Given the description of an element on the screen output the (x, y) to click on. 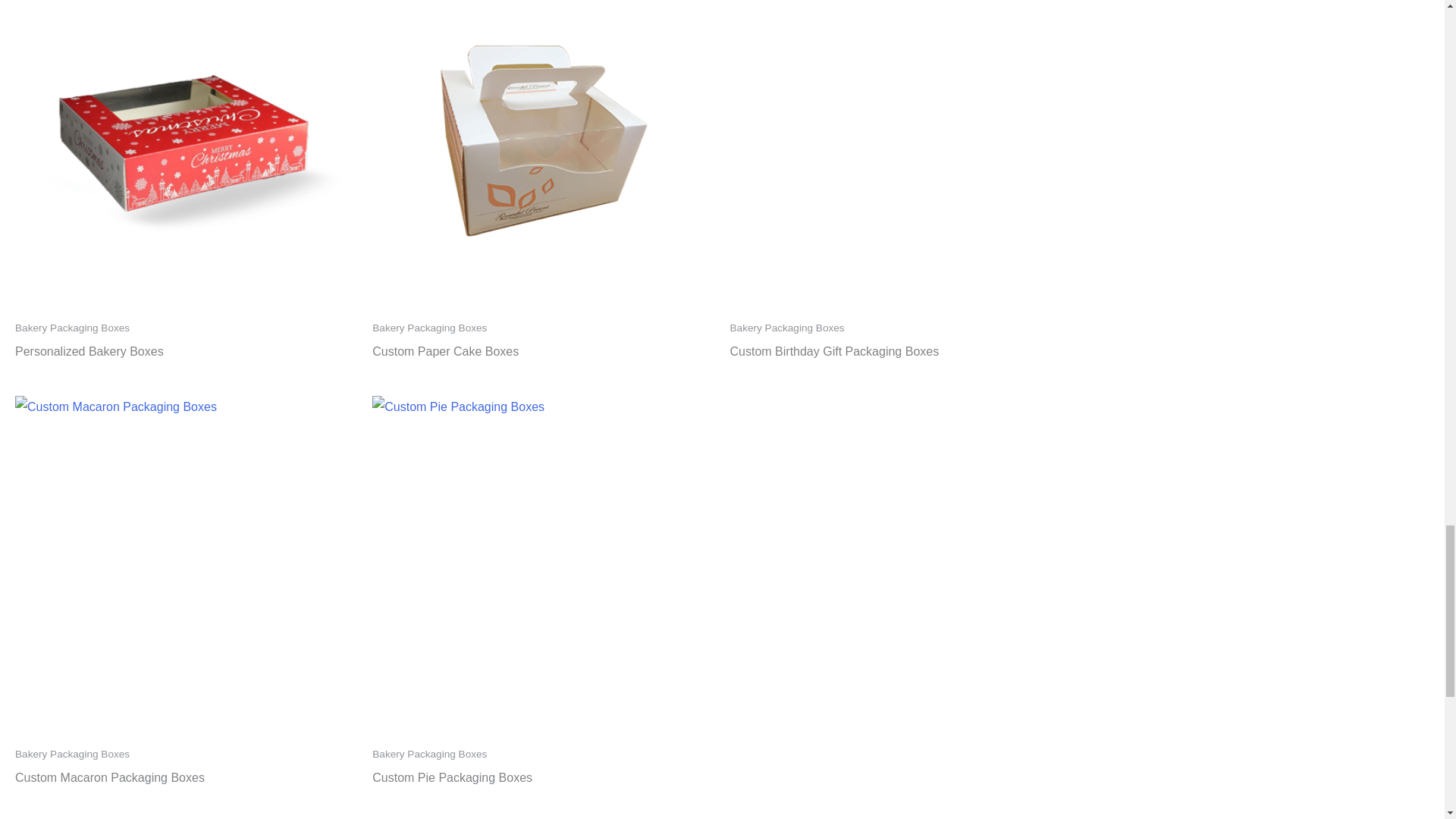
Custom Macaron Packaging Boxes (109, 781)
Custom Pie Packaging Boxes (452, 781)
Custom Birthday Gift Packaging Boxes (834, 354)
Personalized Bakery Boxes (88, 354)
Custom Paper Cake Boxes (445, 354)
